Given the description of an element on the screen output the (x, y) to click on. 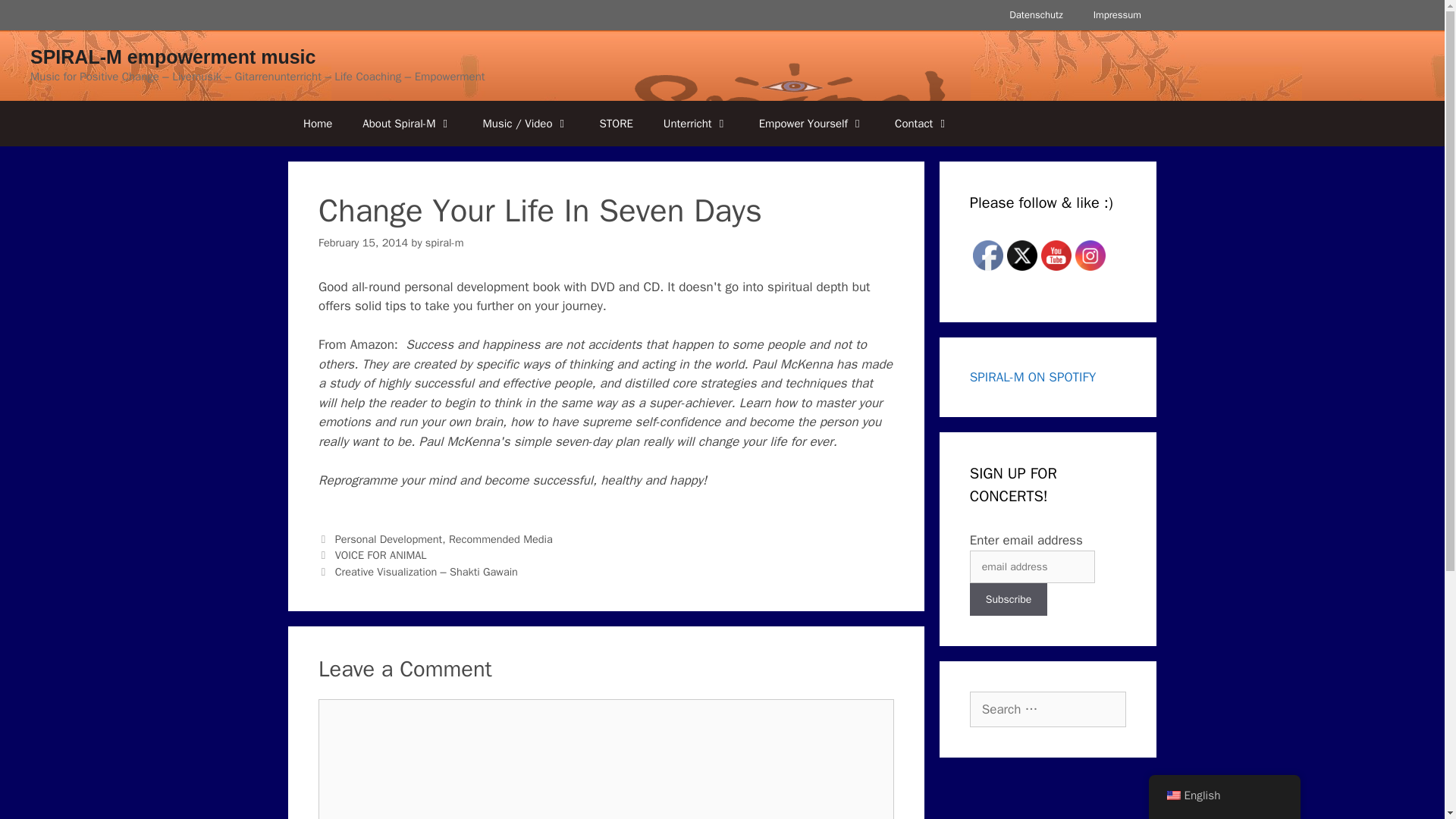
Home (317, 122)
Unterricht (695, 122)
spiral-m (444, 242)
Datenschutz (1035, 15)
VOICE FOR ANIMAL (380, 554)
Twitter (1021, 254)
SPIRAL-M empowerment music (172, 56)
Search for: (1047, 709)
Next (418, 571)
Empower Yourself (811, 122)
Personal Development (388, 539)
Previous (372, 554)
English (1172, 795)
Impressum (1117, 15)
Contact (921, 122)
